Given the description of an element on the screen output the (x, y) to click on. 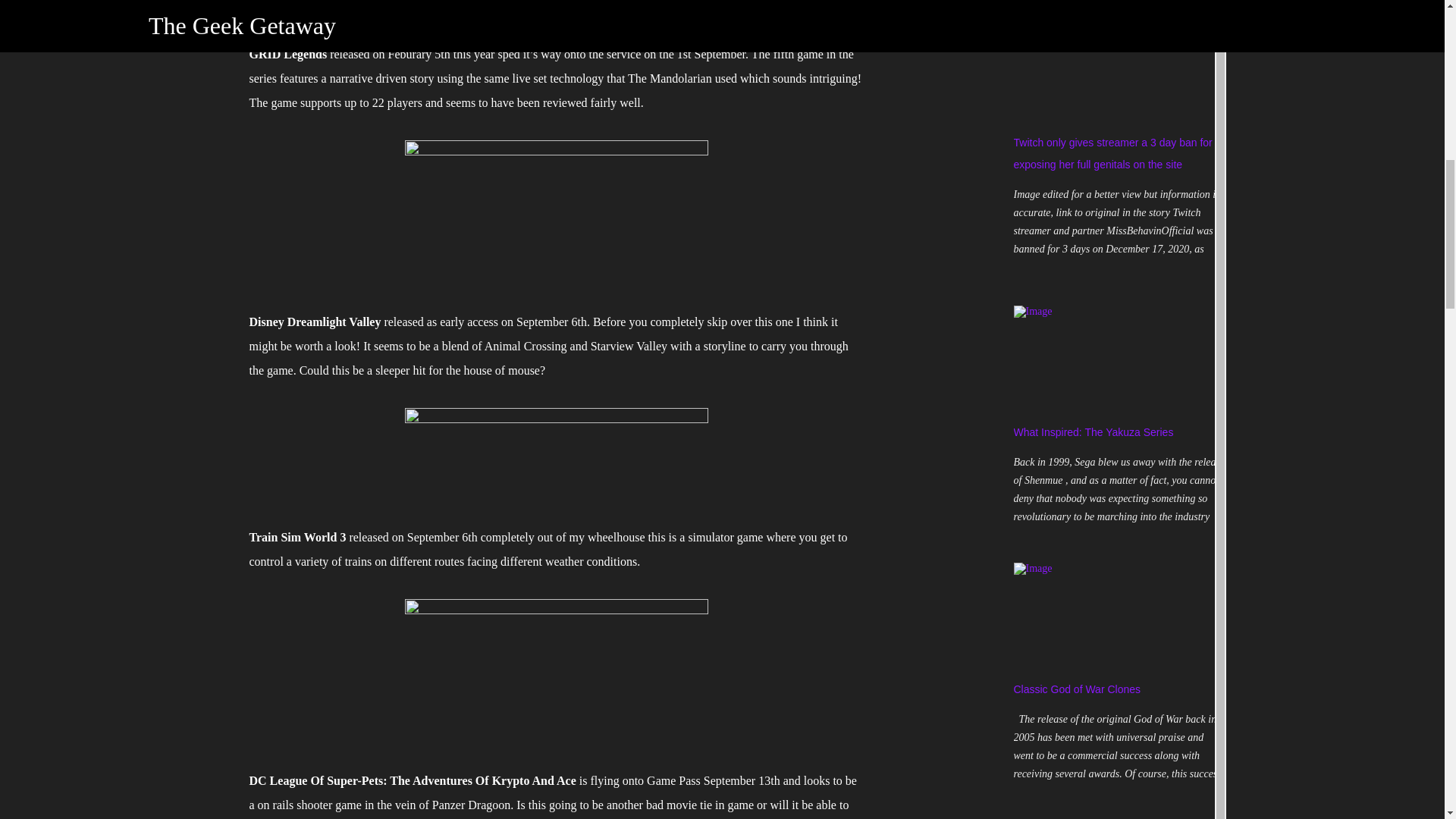
Advertisement (964, 31)
Classic God of War Clones (1076, 689)
What Inspired: The Yakuza Series (1093, 431)
